Given the description of an element on the screen output the (x, y) to click on. 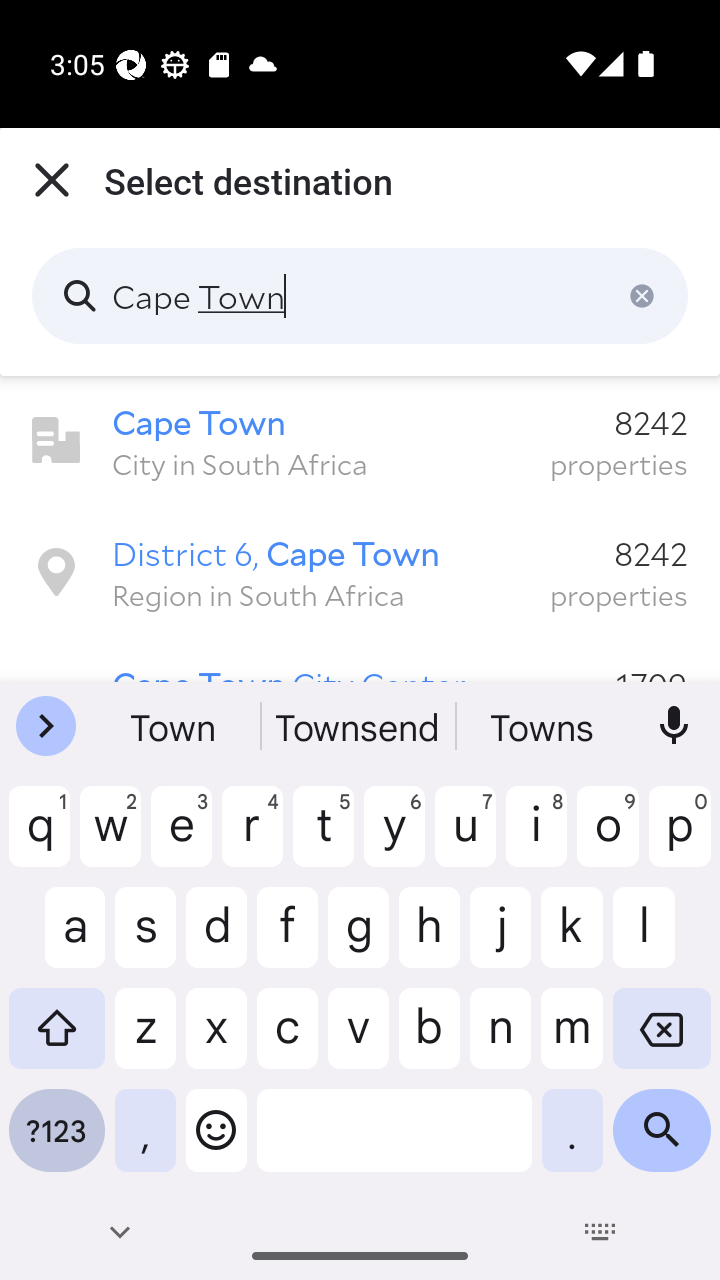
Cape Town (359, 296)
Cape Town 8242 City in South Africa properties (360, 441)
